Given the description of an element on the screen output the (x, y) to click on. 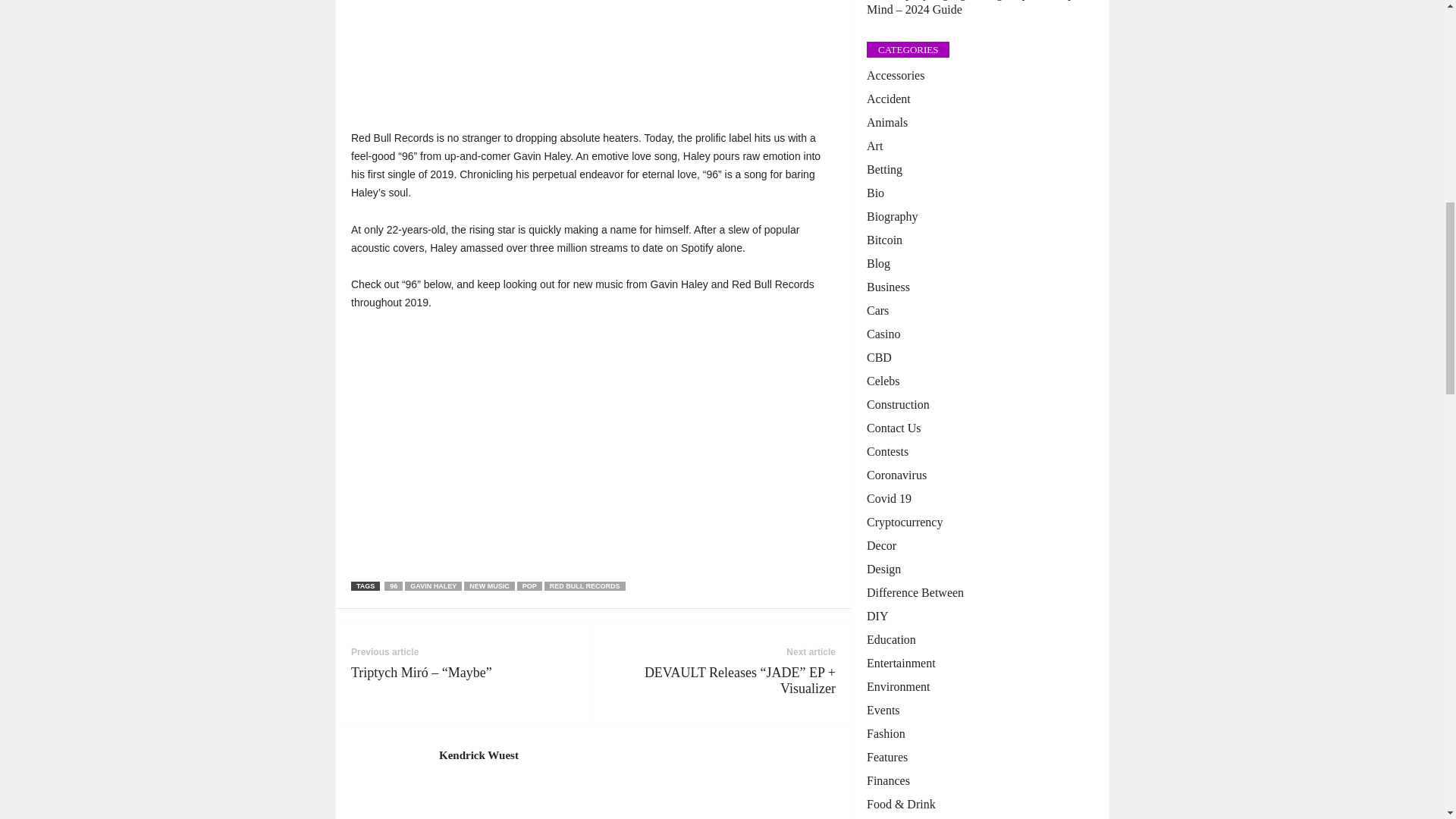
gavin (592, 56)
RED BULL RECORDS (585, 585)
GAVIN HALEY (432, 585)
POP (528, 585)
96 (393, 585)
NEW MUSIC (489, 585)
